Given the description of an element on the screen output the (x, y) to click on. 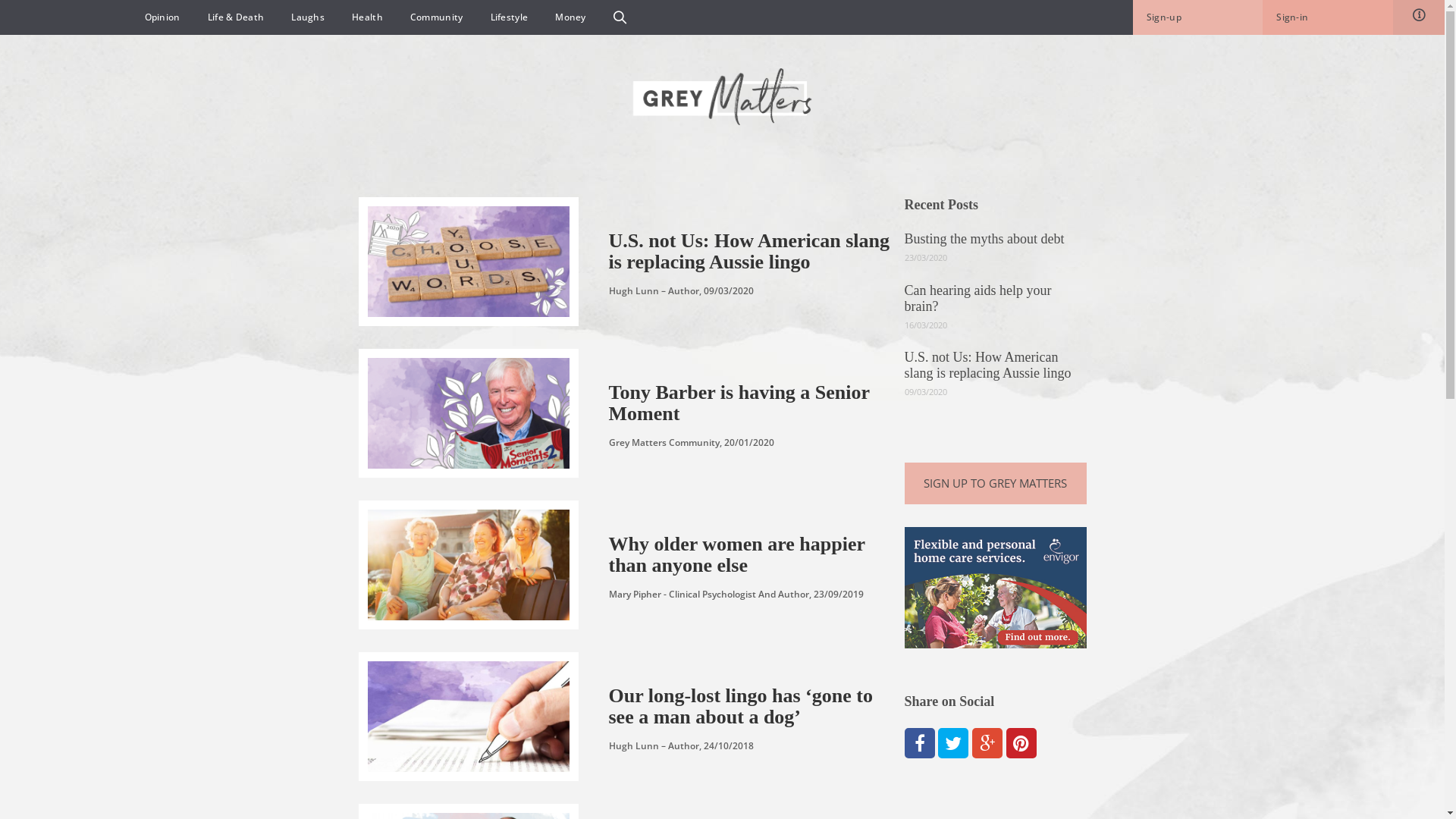
Sign-up Element type: text (1204, 17)
Envigor_Display ads_Grey Matters_v2 Element type: hover (994, 587)
Lifestyle Element type: text (509, 17)
Opinion Element type: text (161, 17)
20/01/2020 Element type: text (748, 442)
Mary Pipher - Clinical Psychologist And Author Element type: text (708, 593)
Life & Death Element type: text (235, 17)
U.S. not Us: How American slang is replacing Aussie lingo Element type: text (750, 253)
Laughs Element type: text (307, 17)
Can hearing aids help your brain? Element type: text (977, 297)
23/09/2019 Element type: text (837, 593)
24/10/2018 Element type: text (728, 745)
Envigor_Display ads_Grey Matters_v2 Element type: hover (994, 585)
Sign-in Element type: text (1327, 17)
Community Element type: text (436, 17)
Tony Barber is having a Senior Moment Element type: text (750, 405)
09/03/2020 Element type: text (728, 290)
U.S. not Us: How American slang is replacing Aussie lingo Element type: text (986, 364)
Money Element type: text (570, 17)
Grey Matters Community Element type: text (663, 442)
Busting the myths about debt Element type: text (983, 238)
Why older women are happier than anyone else Element type: text (750, 556)
SIGN UP TO GREY MATTERS Element type: text (994, 483)
Health Element type: text (366, 17)
